Given the description of an element on the screen output the (x, y) to click on. 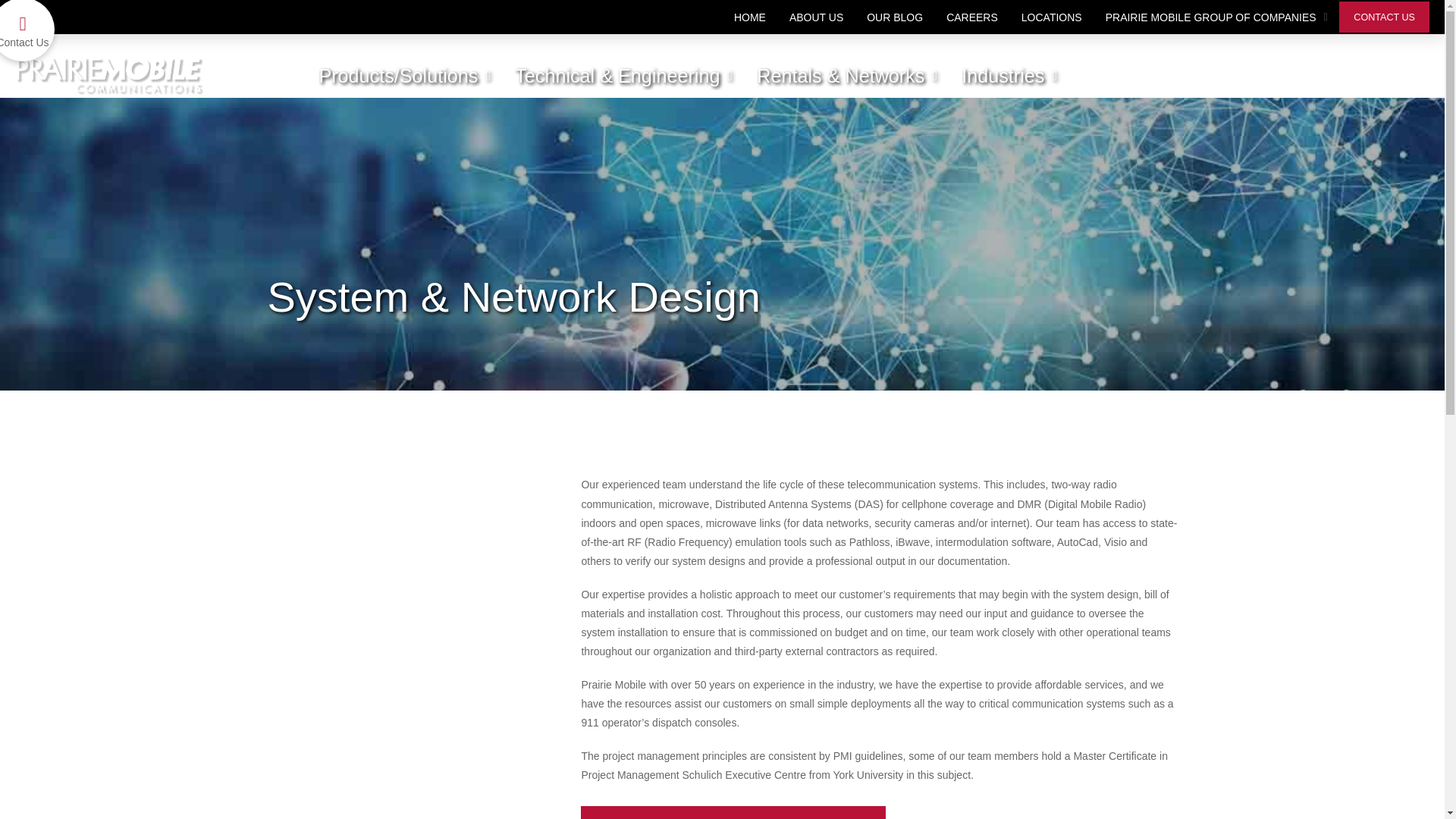
CAREERS (972, 17)
ABOUT US (815, 17)
HOME (749, 17)
PRAIRIE MOBILE GROUP OF COMPANIES (1216, 17)
LOCATIONS (1051, 17)
OUR BLOG (895, 17)
